Given the description of an element on the screen output the (x, y) to click on. 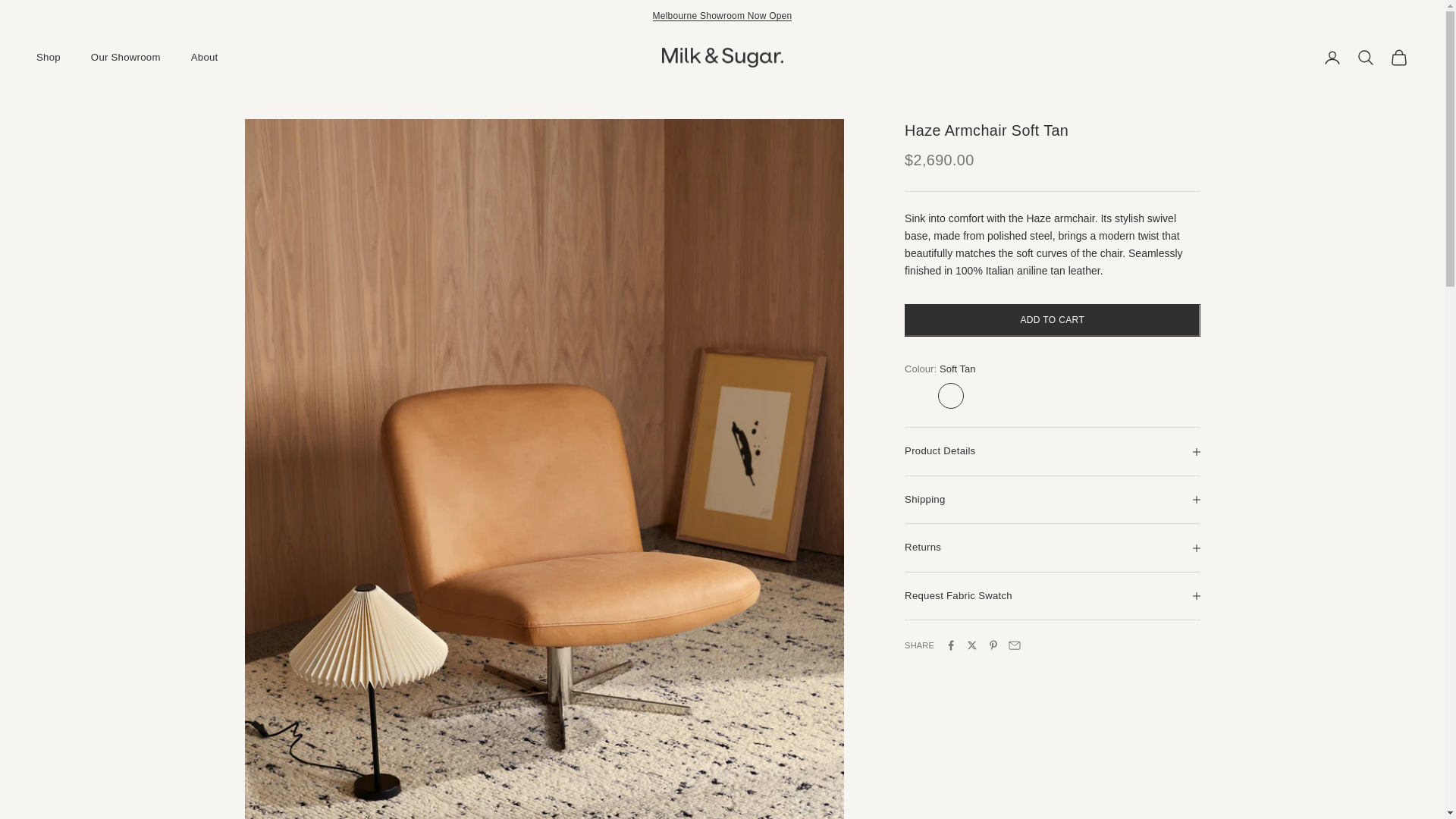
About (204, 57)
Melbourne Showroom Now Open (722, 15)
Open search (1365, 57)
Open cart (1398, 57)
Our Showroom (125, 57)
Open account page (1331, 57)
